Given the description of an element on the screen output the (x, y) to click on. 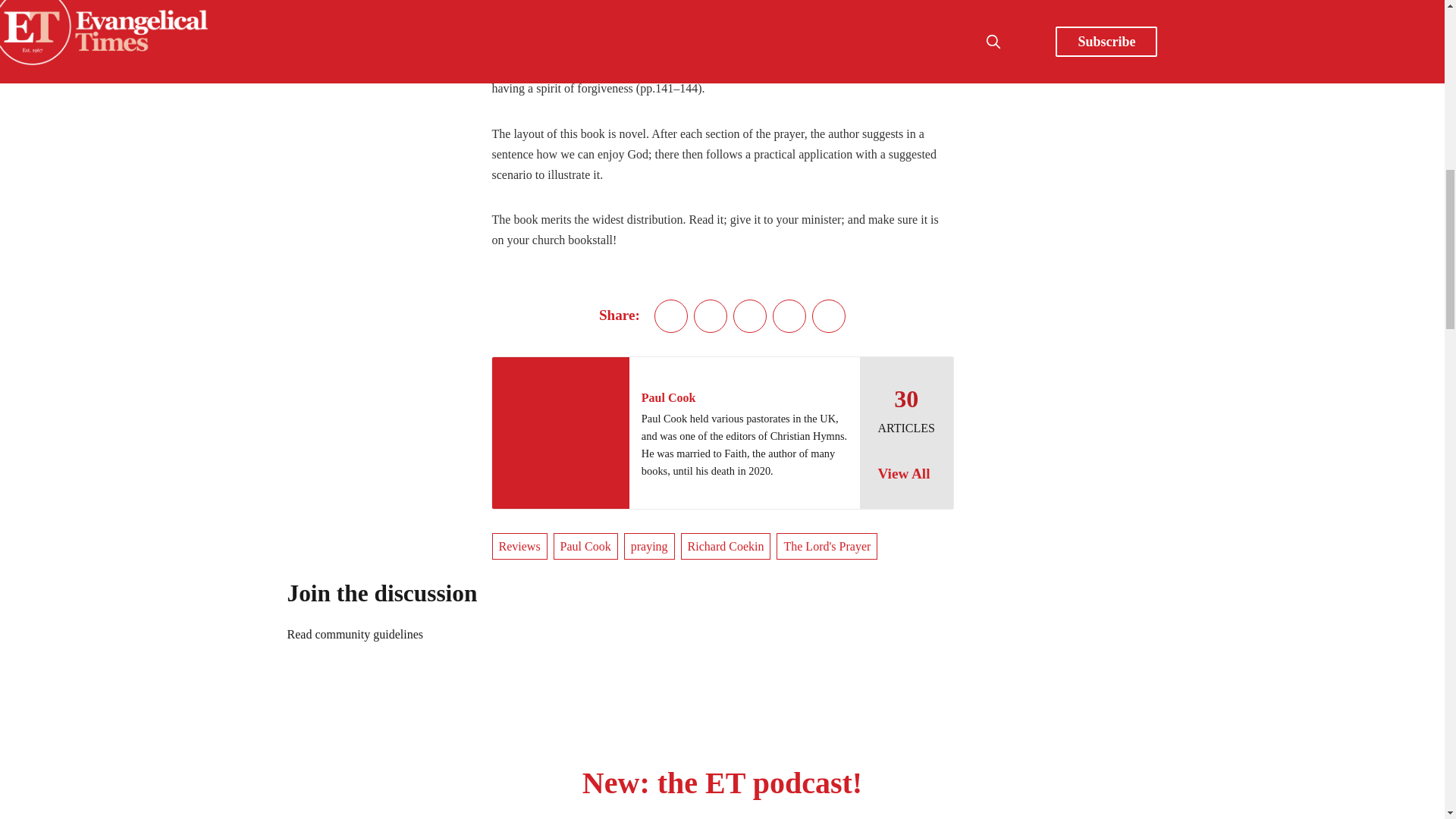
Share on Linkedin (750, 315)
Share on Twitter (670, 315)
Paul Cook (585, 546)
Reviews (519, 546)
Read community guidelines (354, 634)
Copy to clipboard (828, 315)
Paul Cook (668, 397)
Share on Facebook (710, 315)
Share by email (789, 315)
Richard Coekin (726, 546)
